Given the description of an element on the screen output the (x, y) to click on. 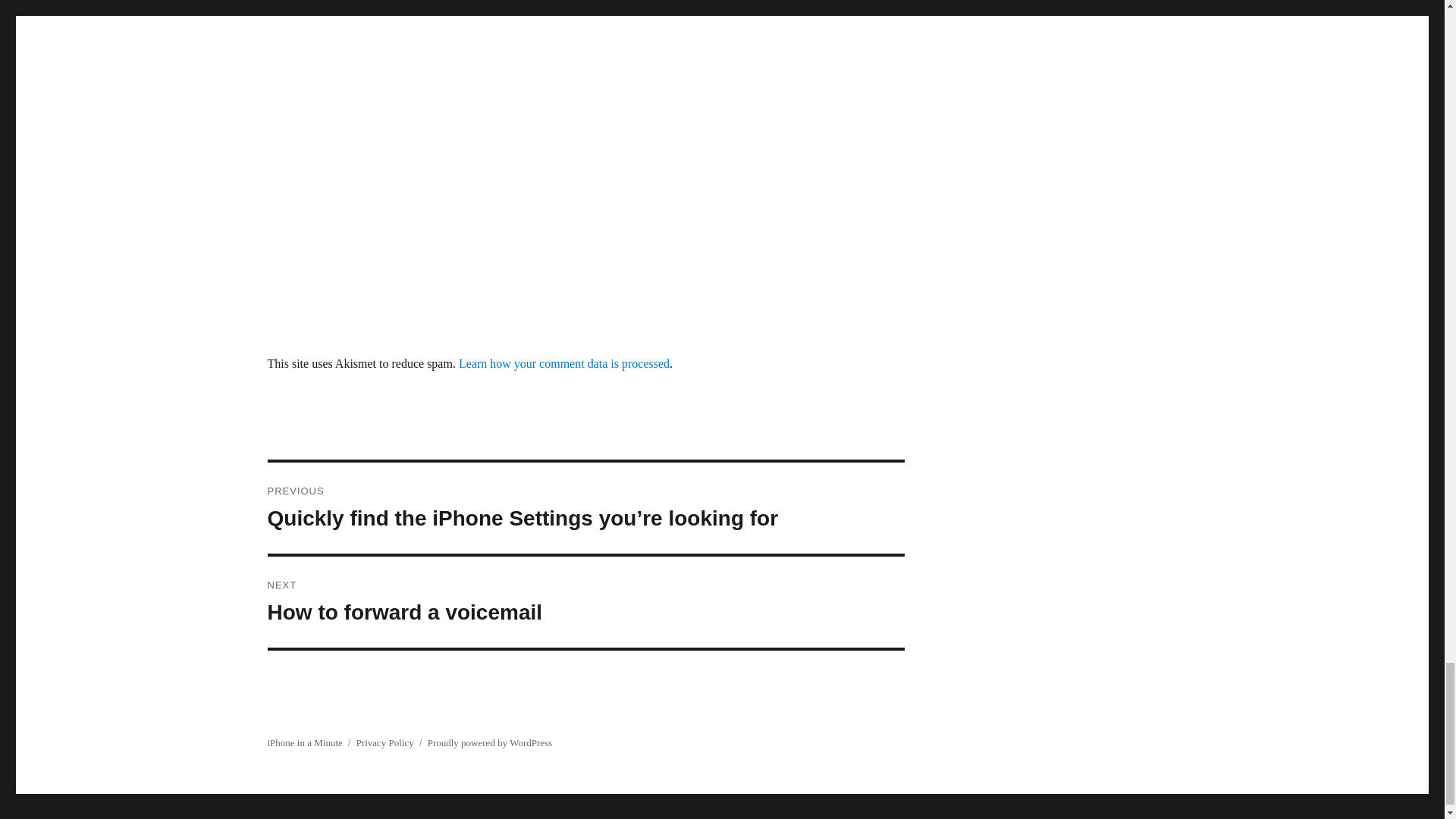
Learn how your comment data is processed (585, 601)
